Given the description of an element on the screen output the (x, y) to click on. 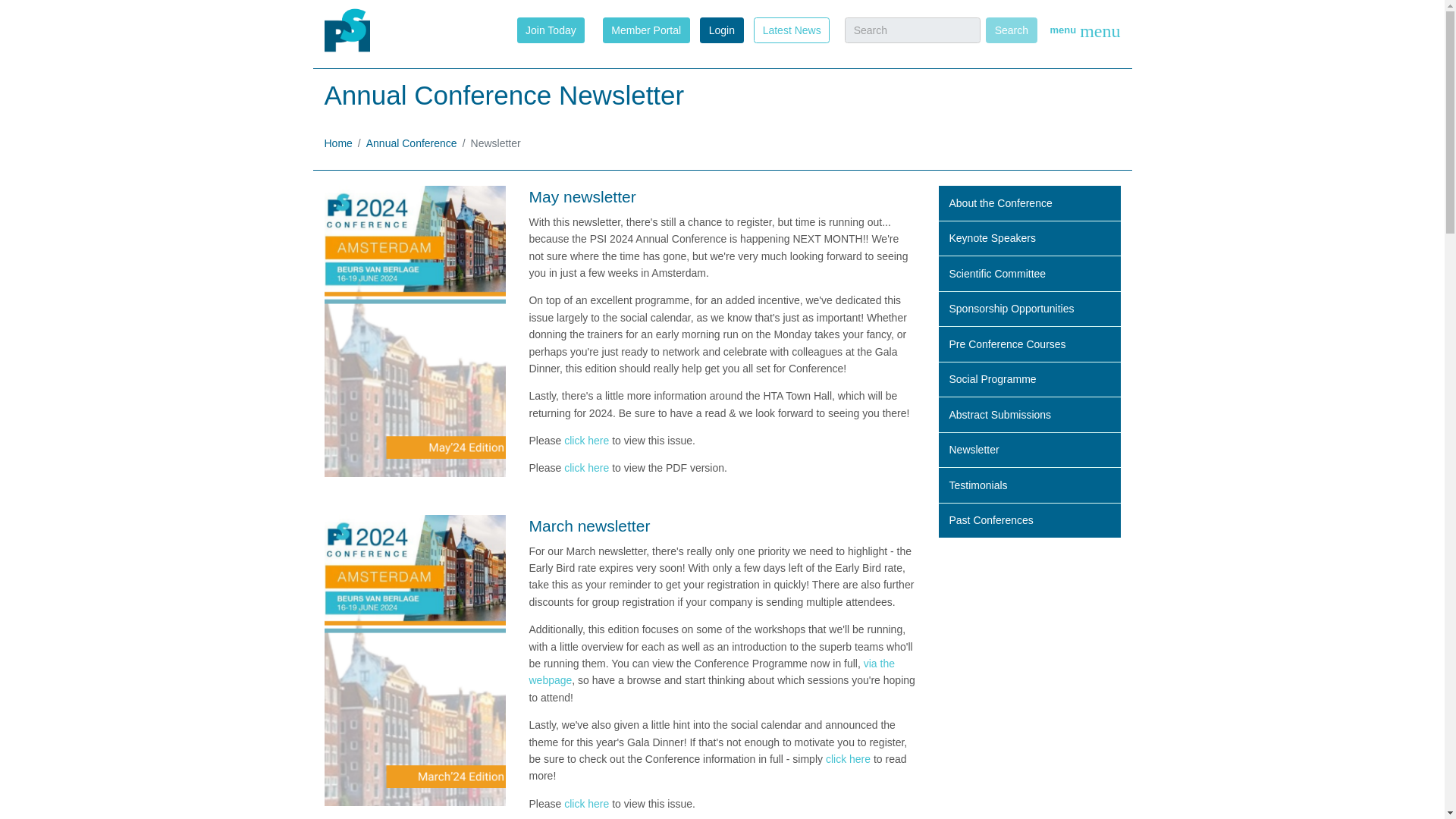
click here (586, 467)
Login (721, 30)
Member Portal (646, 29)
Latest News (791, 29)
Search (1010, 30)
Search input (911, 30)
Join Today (550, 29)
